Given the description of an element on the screen output the (x, y) to click on. 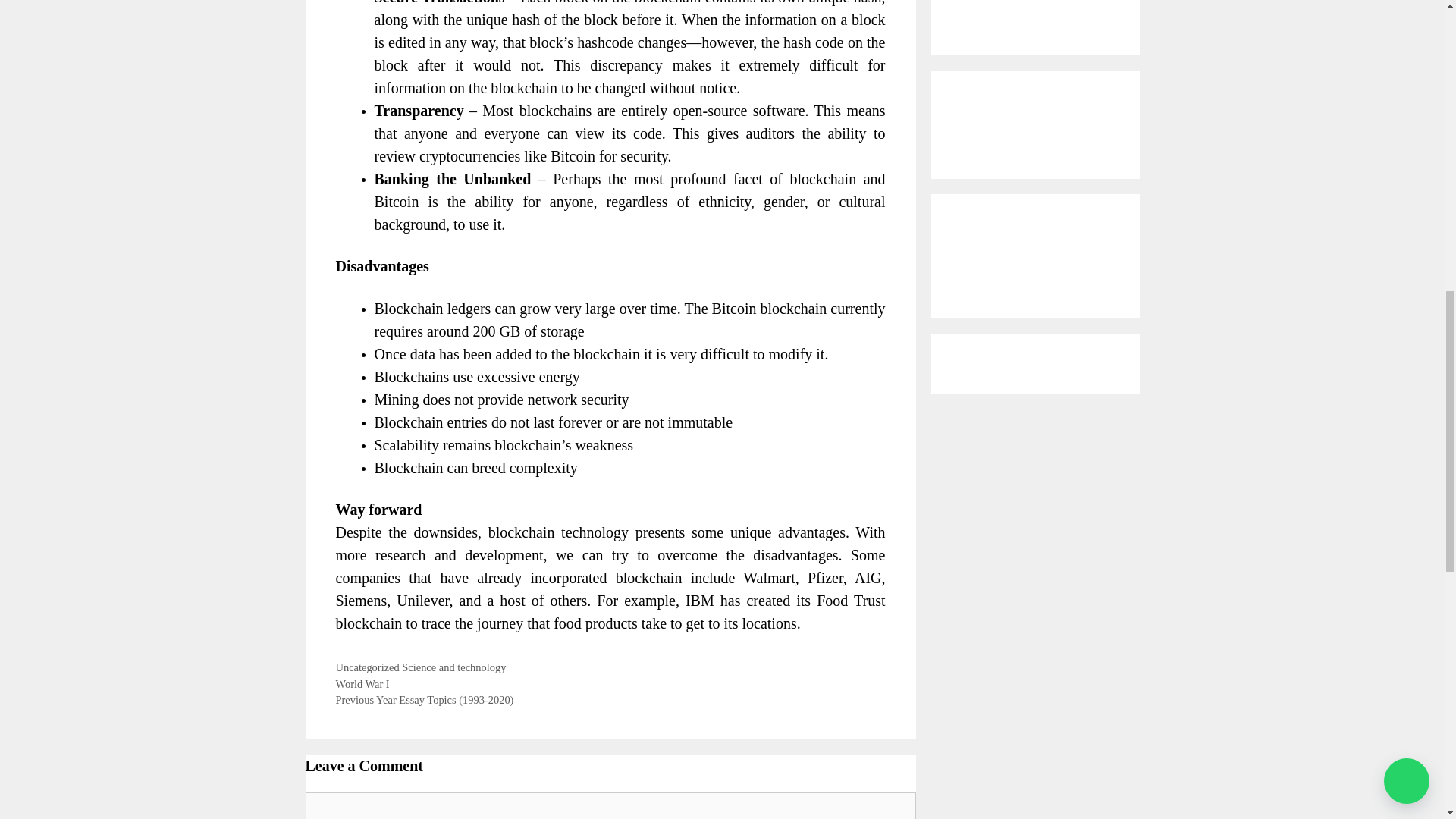
Science and technology (453, 666)
Uncategorized (366, 666)
World War I (361, 684)
